Given the description of an element on the screen output the (x, y) to click on. 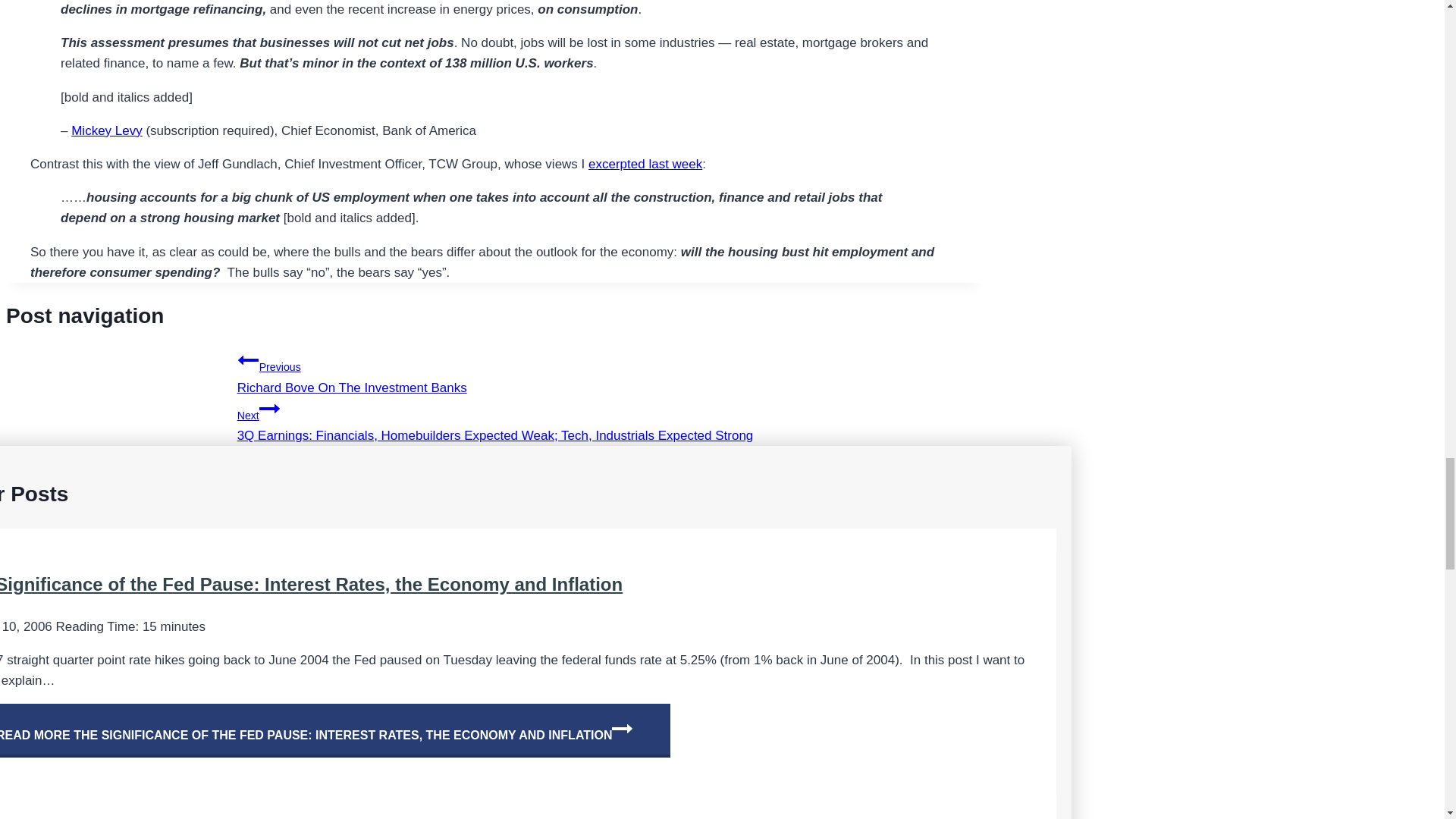
excerpted last week (644, 164)
CONTINUE (621, 728)
Mickey Levy (106, 130)
Continue (495, 371)
Previous (269, 408)
